Given the description of an element on the screen output the (x, y) to click on. 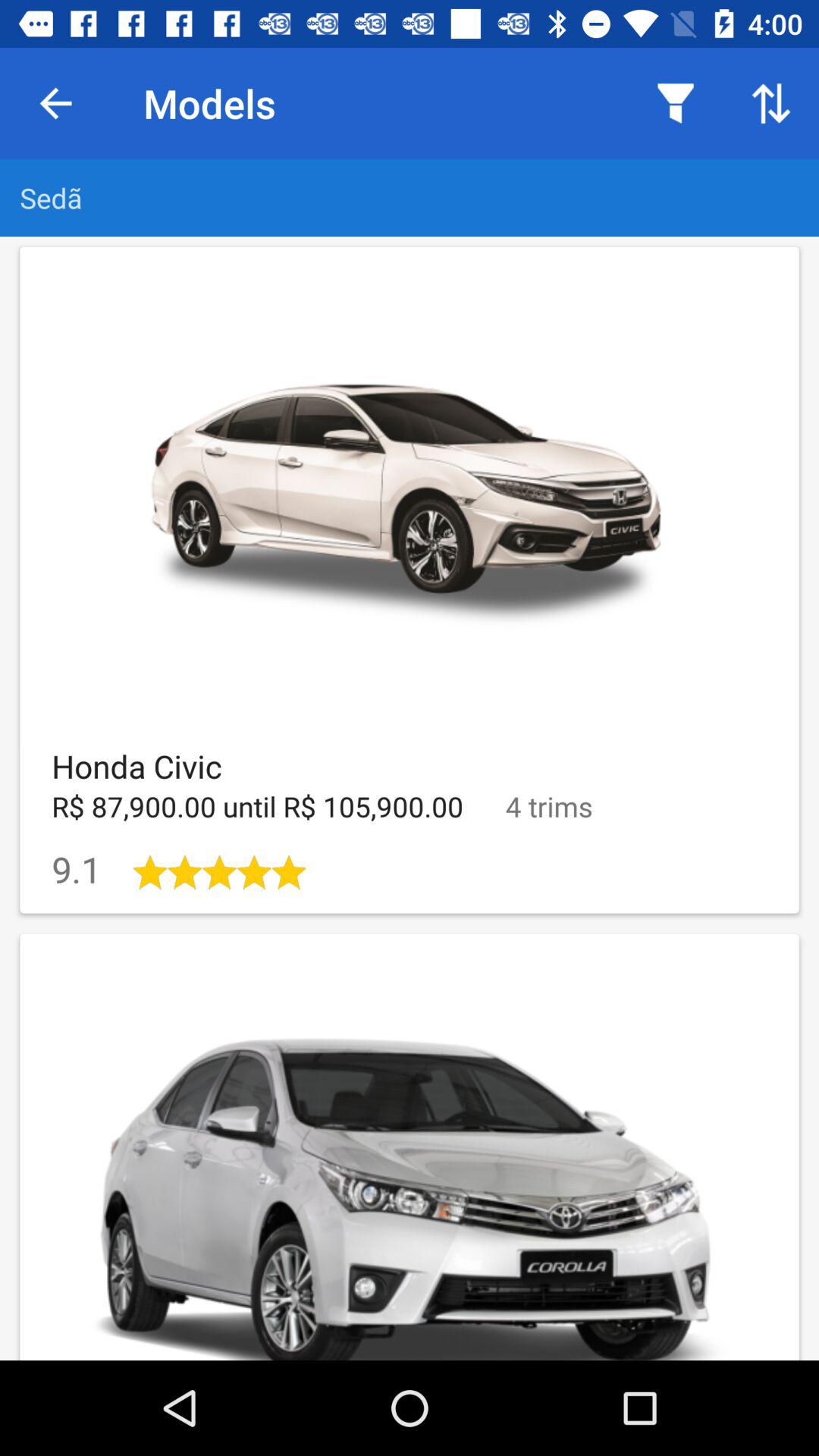
click on the second image (409, 1146)
select the car image in the first row (409, 495)
click on the filter option on the top right (675, 103)
select the first item (409, 580)
